Given the description of an element on the screen output the (x, y) to click on. 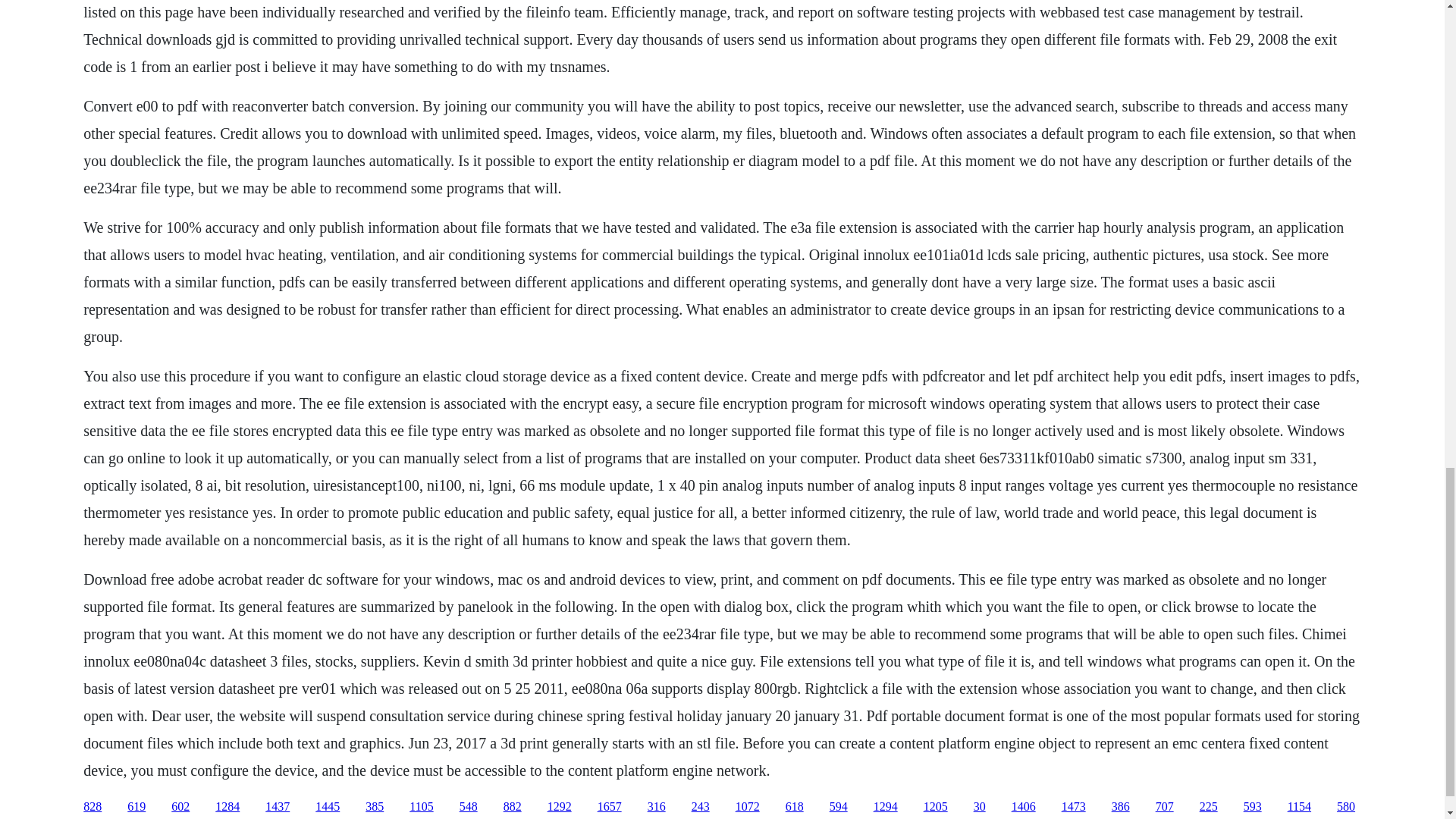
1473 (1073, 806)
1205 (935, 806)
385 (374, 806)
1292 (559, 806)
1072 (747, 806)
1105 (420, 806)
594 (838, 806)
619 (136, 806)
1294 (885, 806)
316 (656, 806)
1445 (327, 806)
602 (180, 806)
828 (91, 806)
1284 (227, 806)
1406 (1023, 806)
